Given the description of an element on the screen output the (x, y) to click on. 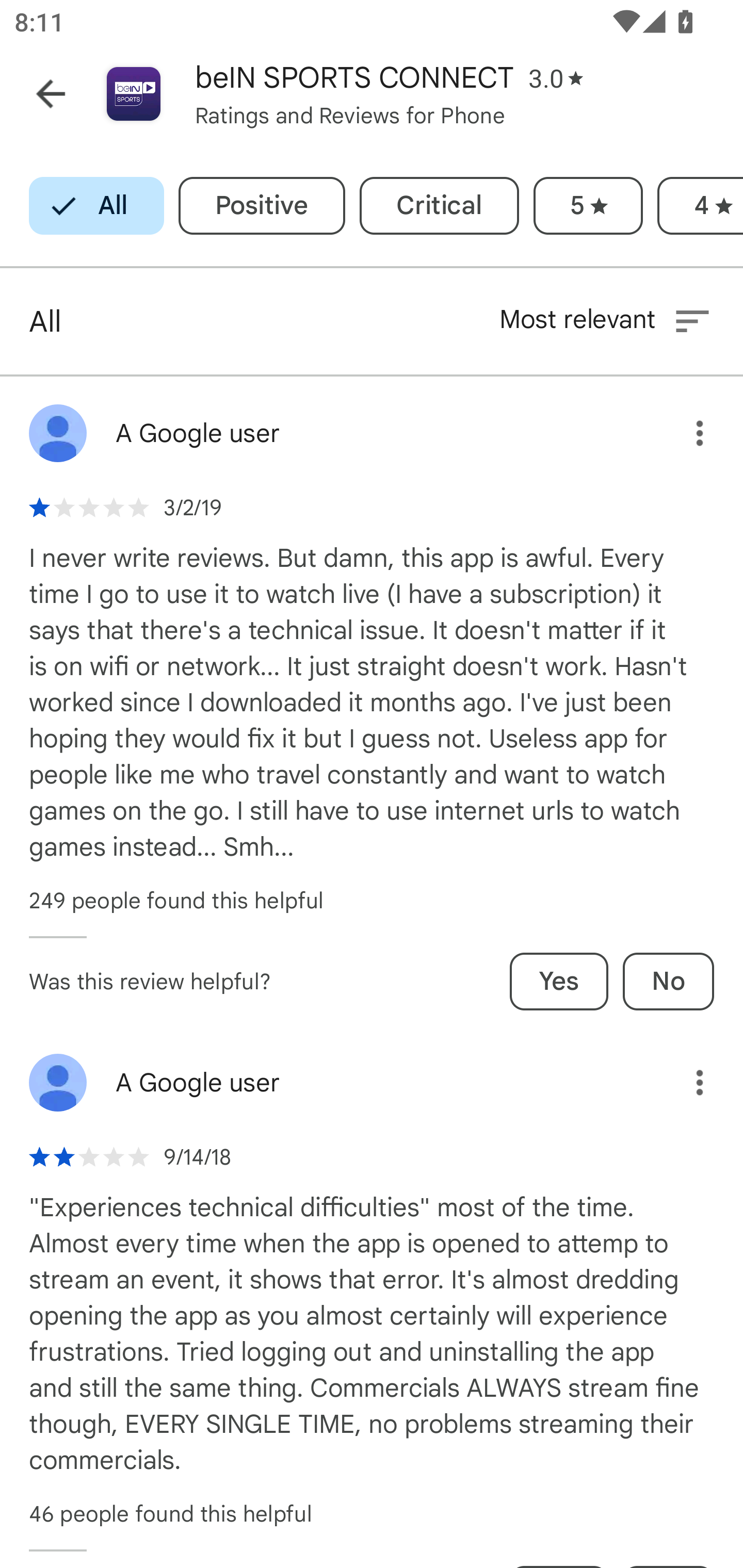
Navigate up (50, 93)
All (96, 206)
Positive (261, 206)
Critical (439, 206)
5 5 Stars (587, 206)
4 4 Stars (700, 206)
Most relevant (606, 321)
Options (685, 433)
Yes (558, 981)
No (668, 981)
Options (685, 1082)
